Given the description of an element on the screen output the (x, y) to click on. 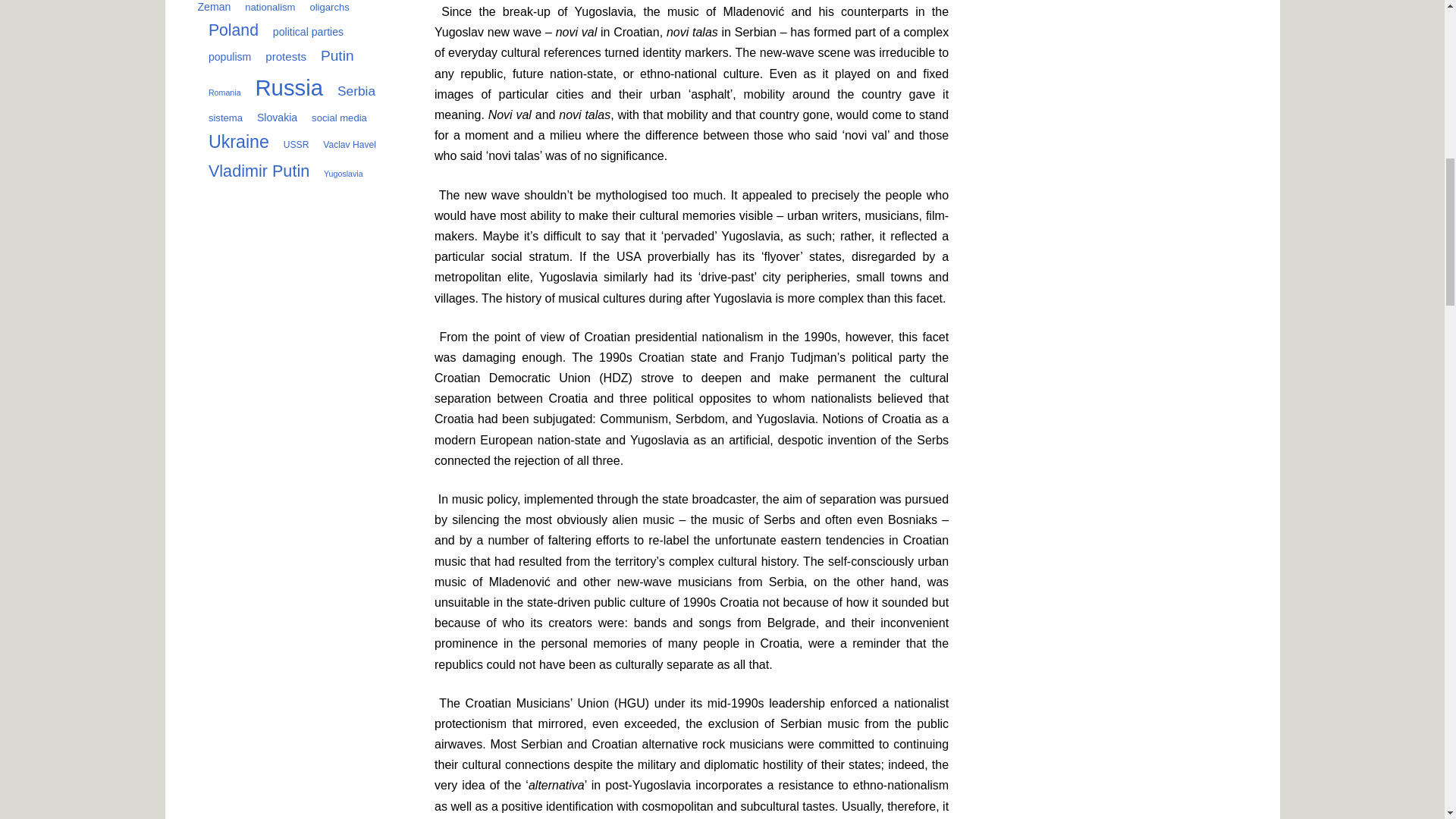
Milos Zeman (287, 6)
populism (223, 56)
oligarchs (323, 7)
Poland (226, 29)
nationalism (264, 7)
political parties (302, 31)
